Given the description of an element on the screen output the (x, y) to click on. 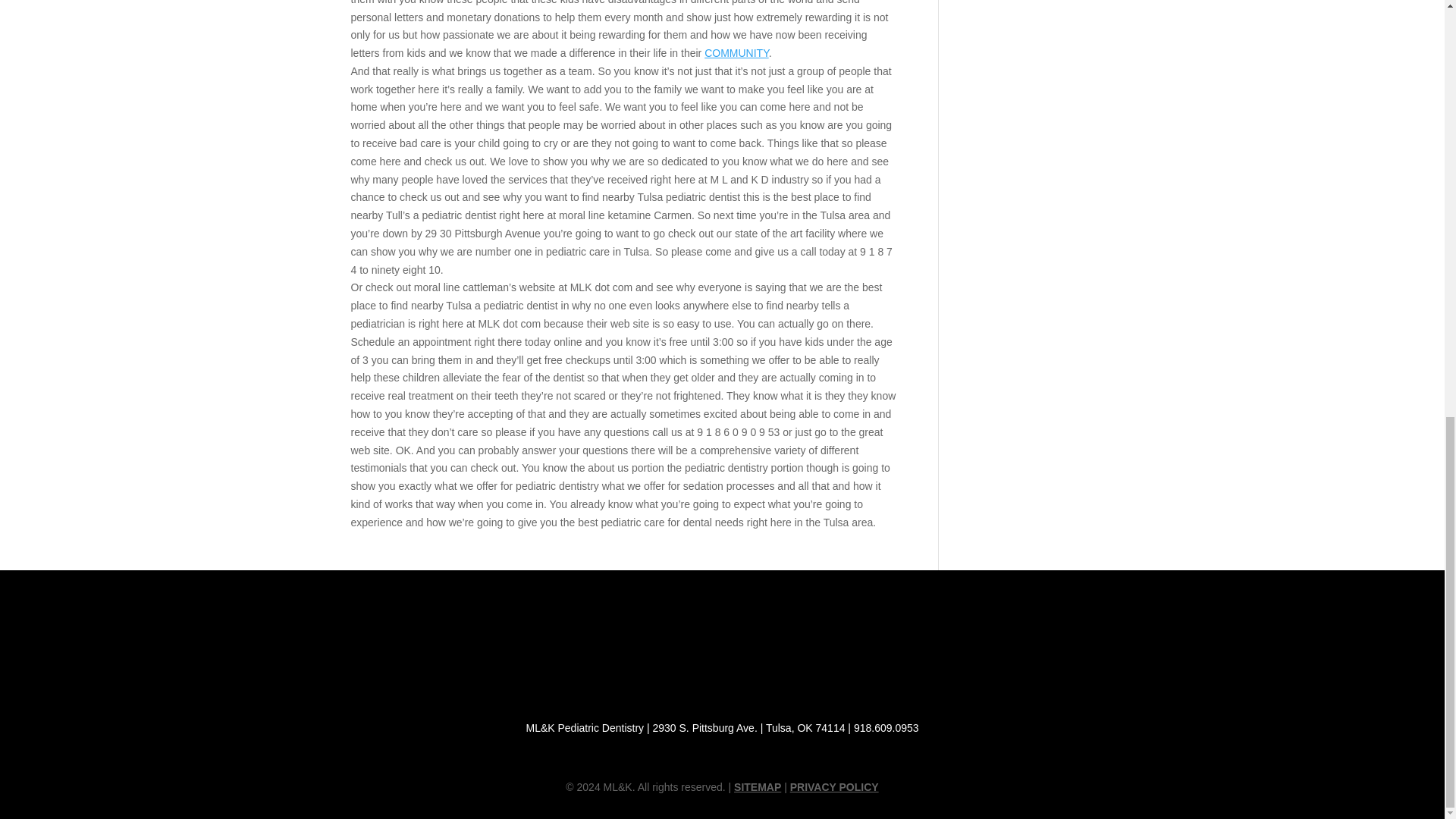
PRIVACY POLICY (834, 787)
COMMUNITY (736, 52)
SITEMAP (756, 787)
